Given the description of an element on the screen output the (x, y) to click on. 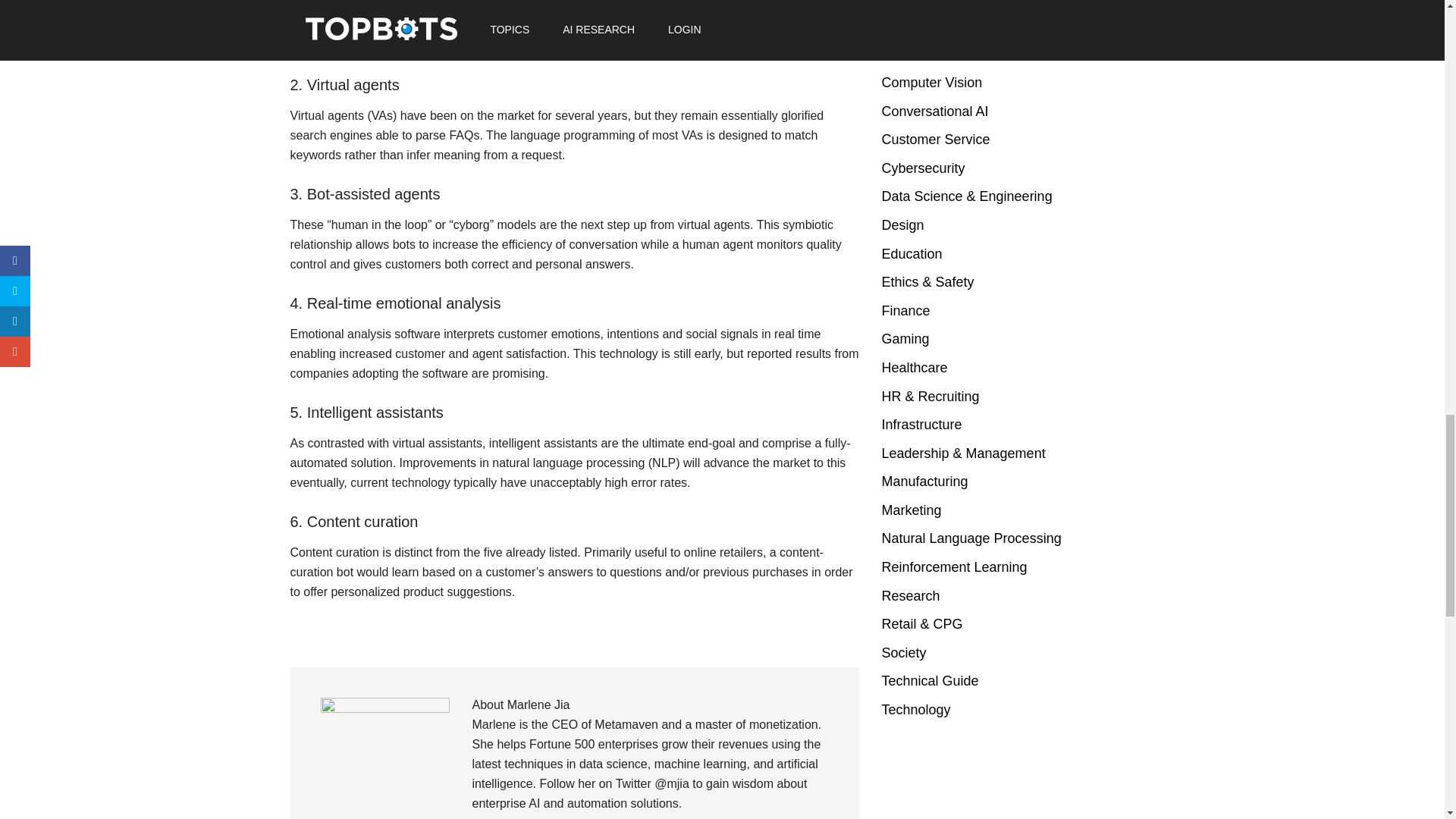
Business (908, 2)
